Given the description of an element on the screen output the (x, y) to click on. 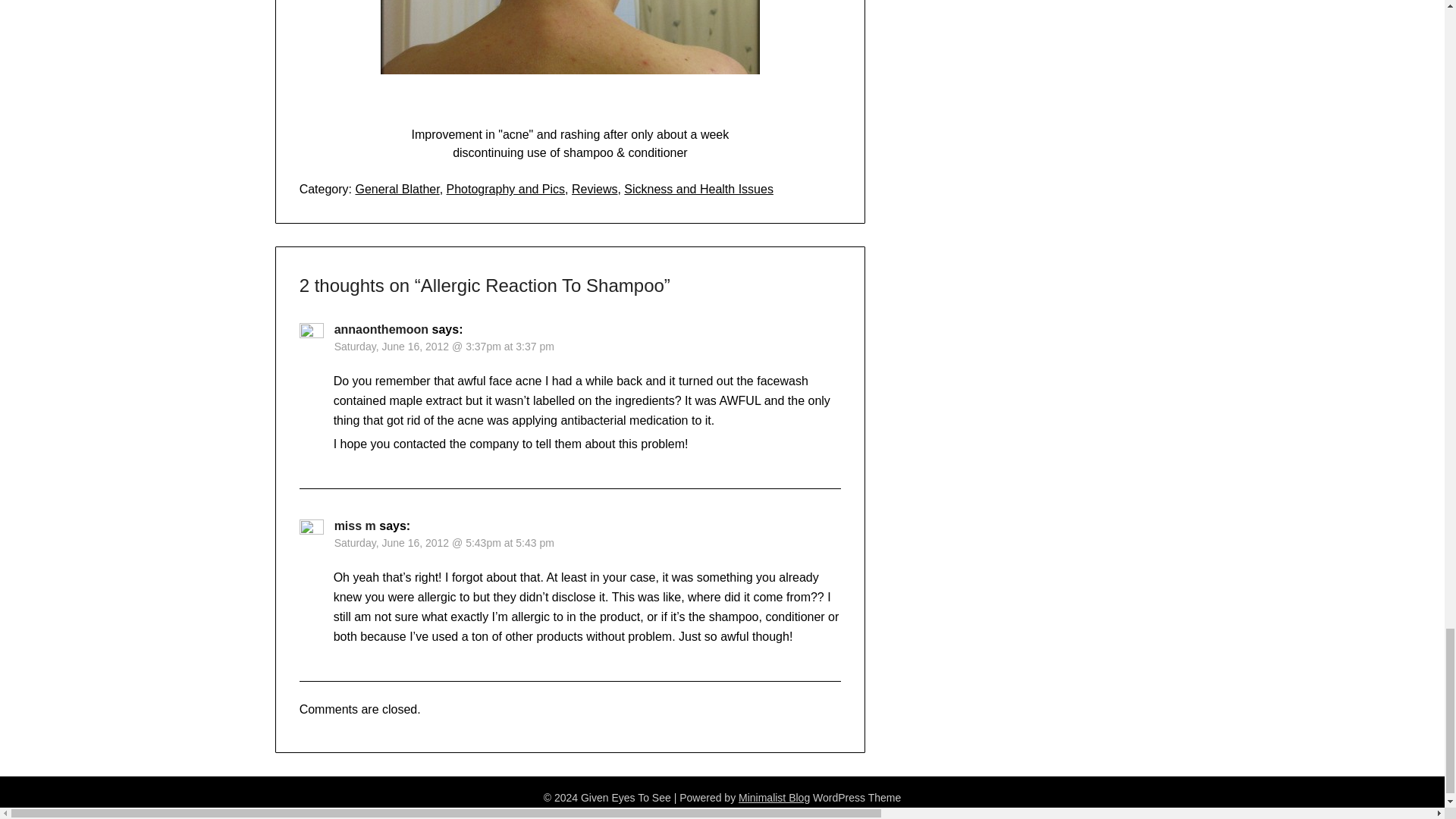
Photography and Pics (506, 188)
shampoo-acne2a (570, 58)
miss m (354, 525)
annaonthemoon (381, 328)
Sickness and Health Issues (698, 188)
Reviews (594, 188)
General Blather (397, 188)
